Given the description of an element on the screen output the (x, y) to click on. 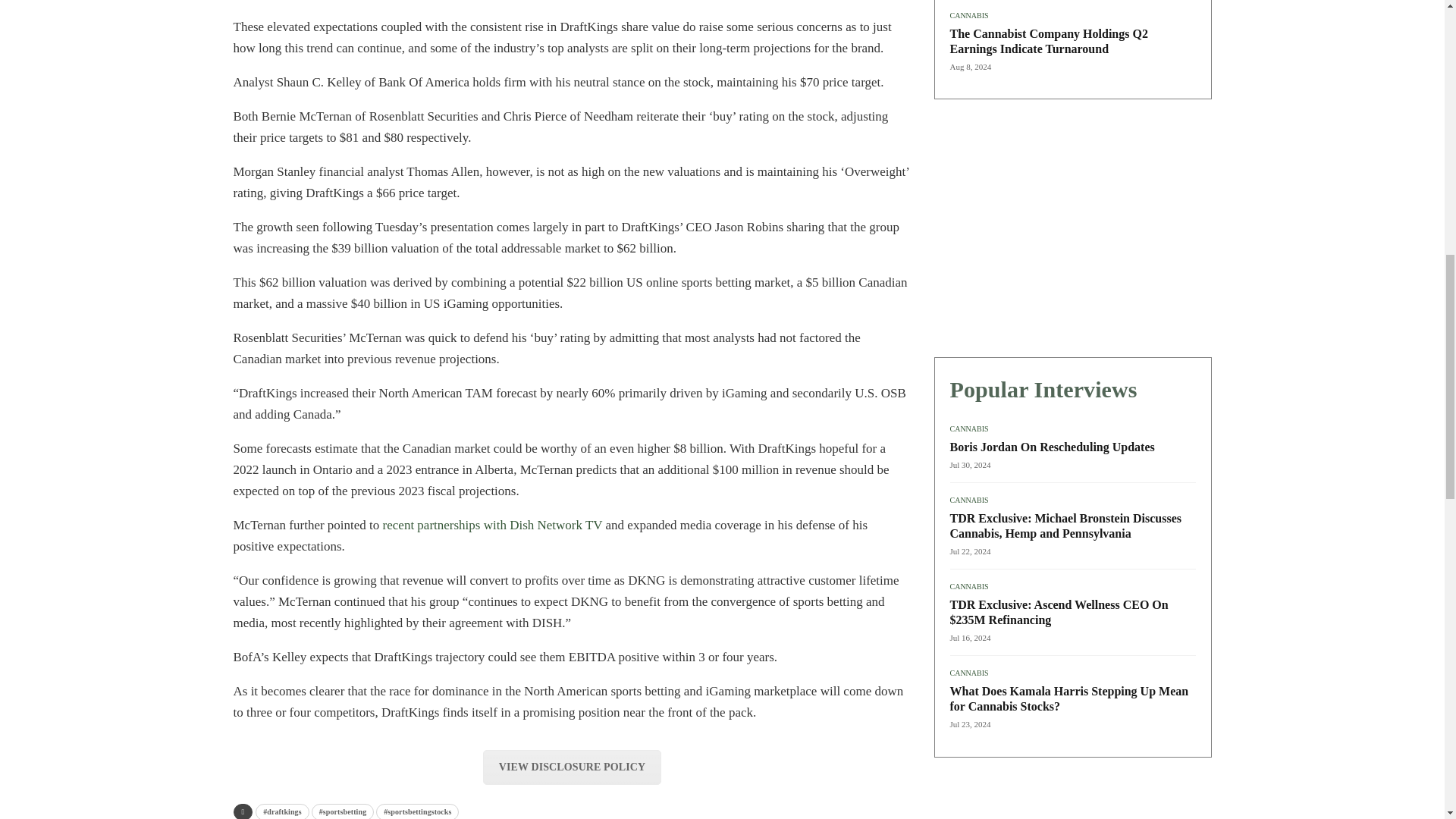
VIEW DISCLOSURE POLICY (572, 767)
VIEW DISCLOSURE POLICY (572, 766)
recent partnerships with Dish Network TV (492, 524)
